Given the description of an element on the screen output the (x, y) to click on. 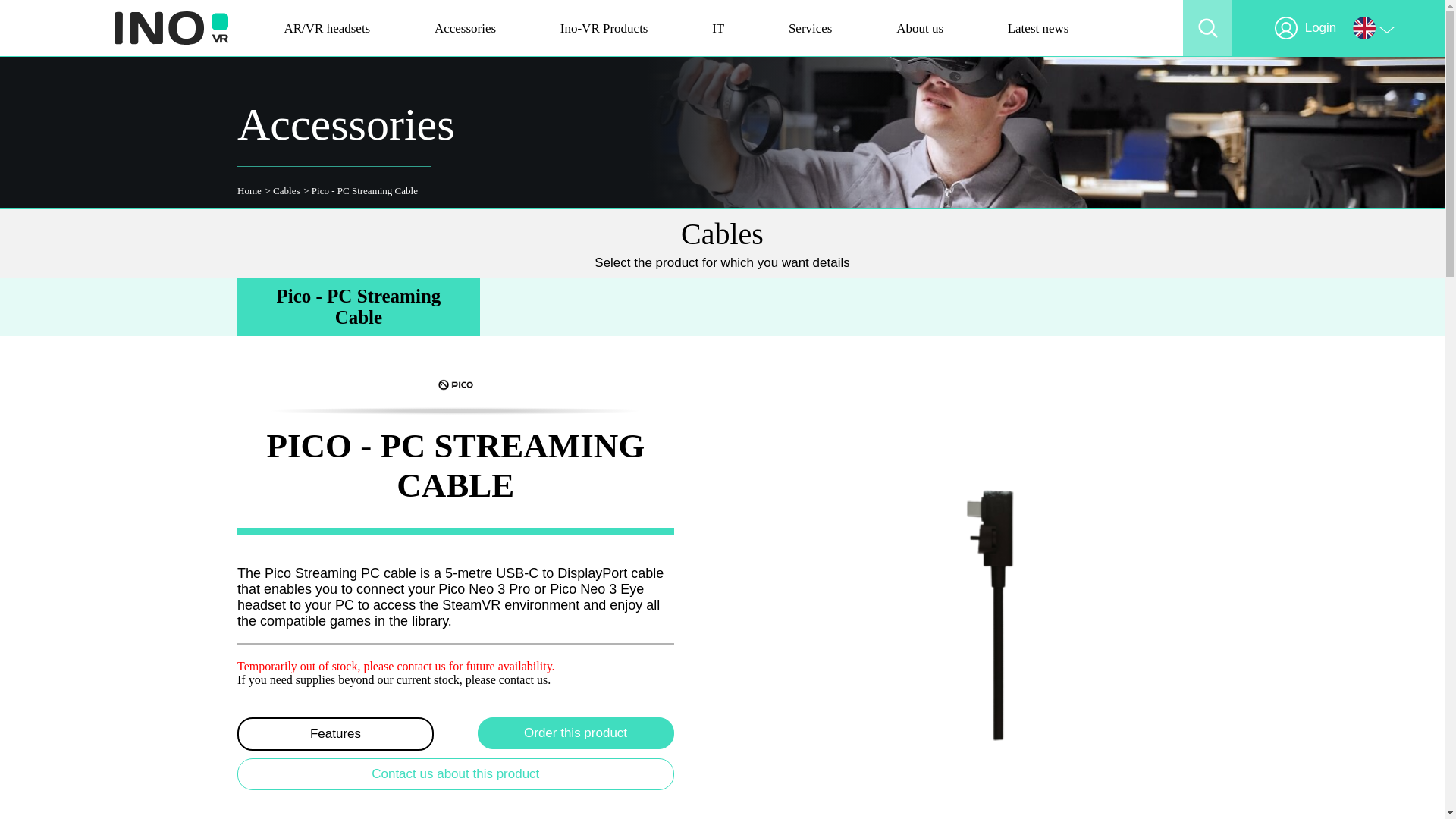
Accessories (464, 27)
About us (919, 27)
Latest news (1037, 27)
Login to order (575, 733)
Ino-VR Products (603, 27)
Pico - PC Streaming Cable  (358, 306)
Services (810, 27)
English (1377, 27)
